Given the description of an element on the screen output the (x, y) to click on. 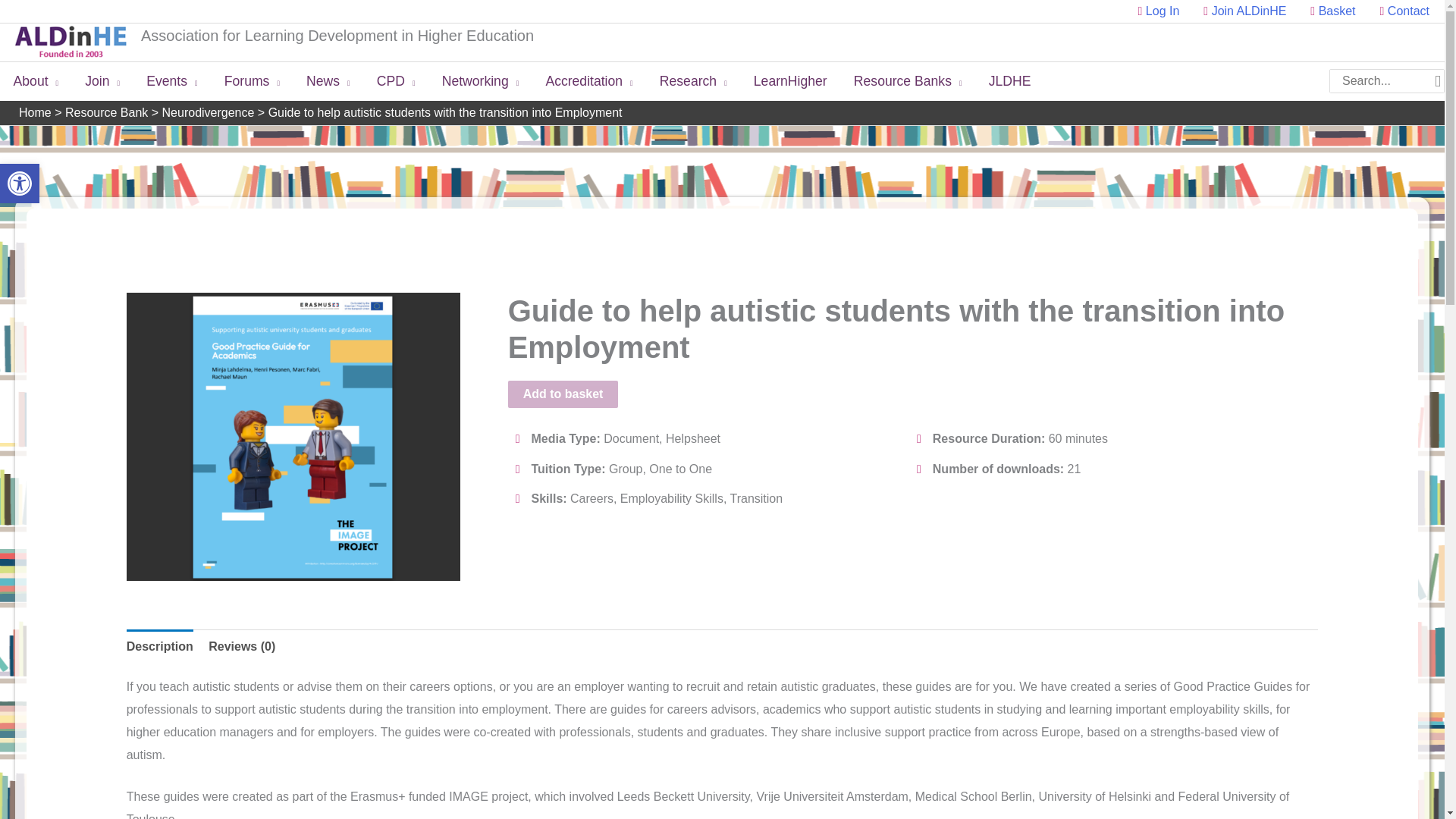
Join ALDinHE (1244, 11)
Events (172, 80)
Contact ALDinHE (1398, 11)
Accessibility Tools (19, 183)
Accessibility Tools (19, 183)
Join (19, 183)
About ALDinHE (102, 80)
Log In (35, 80)
Basket (1158, 11)
Contact (1332, 11)
Join the ALDinHE community (1398, 11)
View Basket (1244, 11)
Log In to ALDinHE (1332, 11)
Join the ALDinHE community (1158, 11)
